Given the description of an element on the screen output the (x, y) to click on. 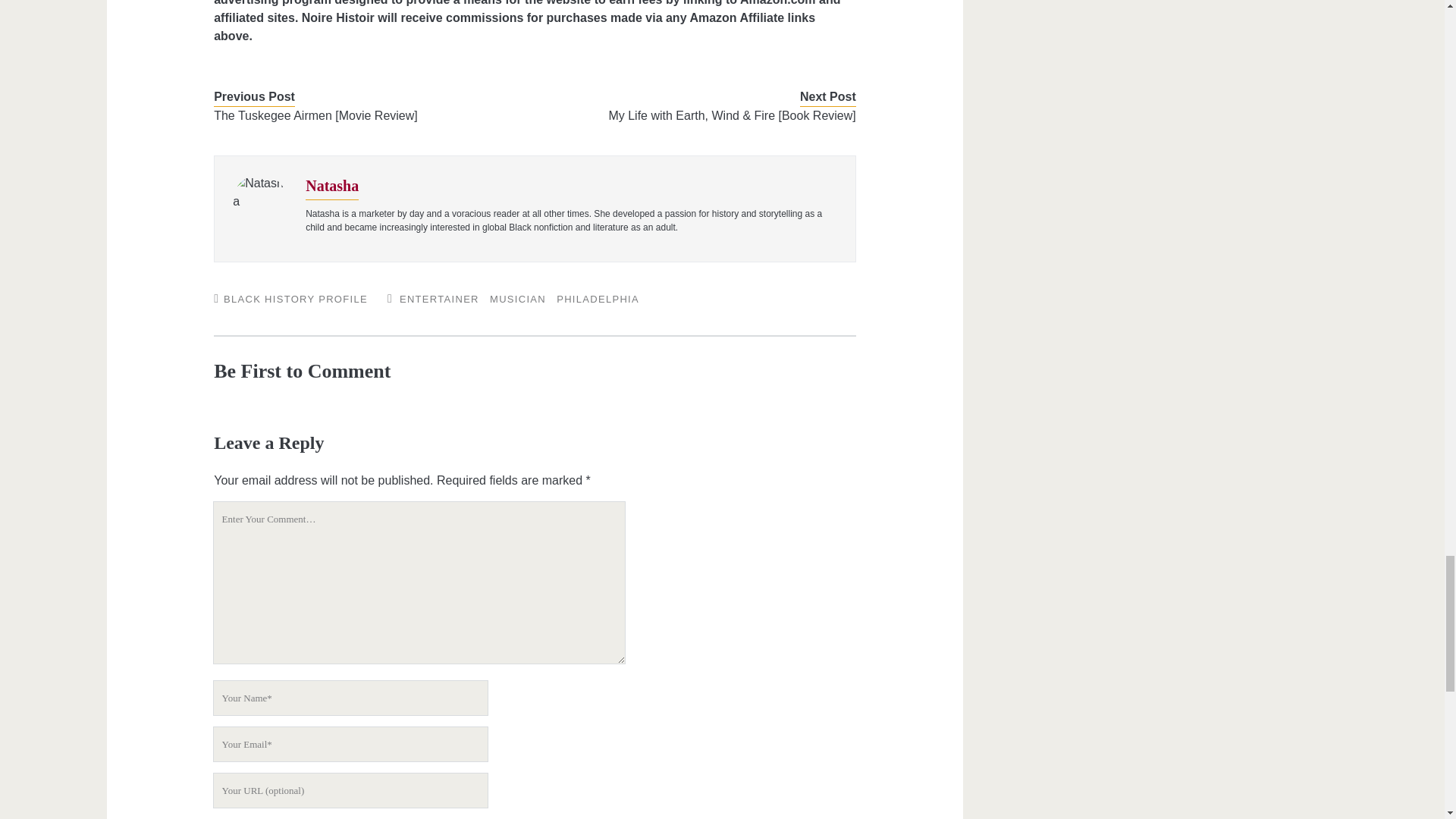
PHILADELPHIA (597, 298)
View all posts in Black History Profile (296, 298)
ENTERTAINER (438, 298)
MUSICIAN (517, 298)
BLACK HISTORY PROFILE (296, 298)
Natasha (331, 185)
